Given the description of an element on the screen output the (x, y) to click on. 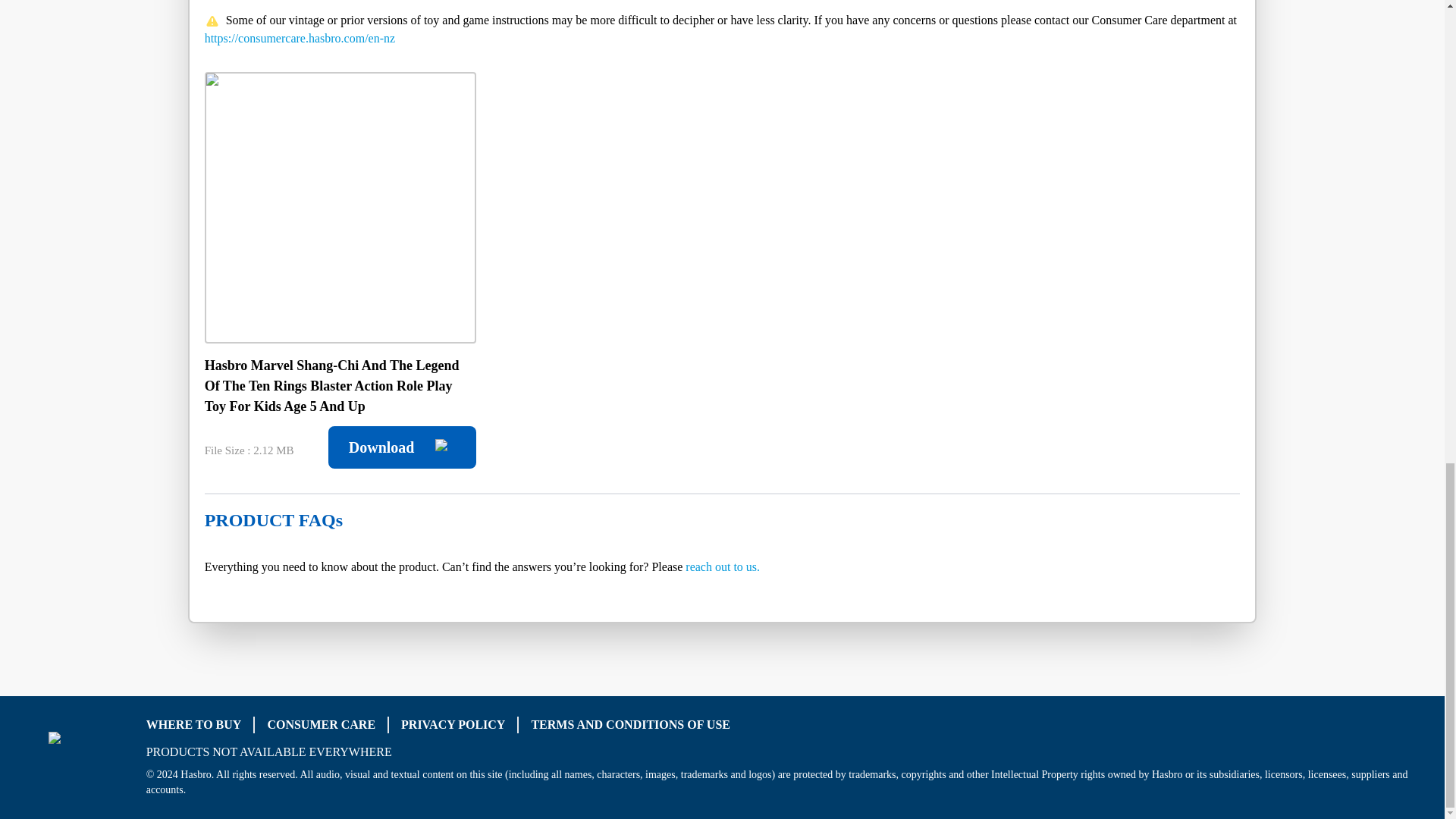
CONSUMER CARE (320, 724)
Download (402, 446)
PRIVACY POLICY (453, 724)
reach out to us. (722, 566)
WHERE TO BUY (194, 724)
TERMS AND CONDITIONS OF USE (630, 724)
